Given the description of an element on the screen output the (x, y) to click on. 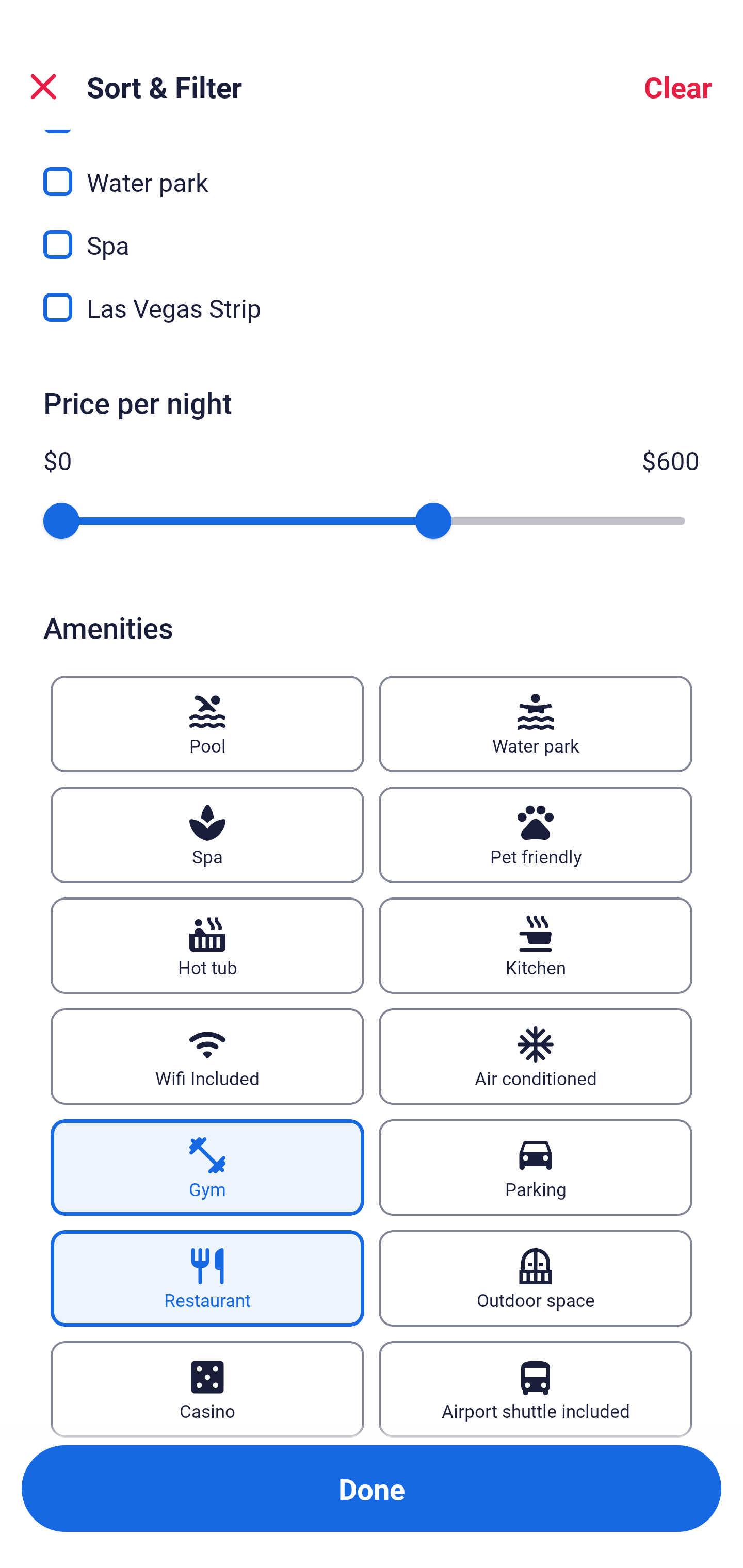
Close Sort and Filter (43, 86)
Clear (677, 86)
Water park, Water park (371, 169)
Spa, Spa (371, 233)
Las Vegas Strip, Las Vegas Strip (371, 307)
Pool (207, 723)
Water park (535, 723)
Spa (207, 834)
Pet friendly (535, 834)
Hot tub (207, 945)
Kitchen (535, 945)
Wifi Included (207, 1056)
Air conditioned (535, 1056)
Gym (207, 1167)
Parking (535, 1167)
Restaurant (207, 1278)
Outdoor space (535, 1278)
Casino (207, 1388)
Airport shuttle included (535, 1388)
Apply and close Sort and Filter Done (371, 1488)
